Given the description of an element on the screen output the (x, y) to click on. 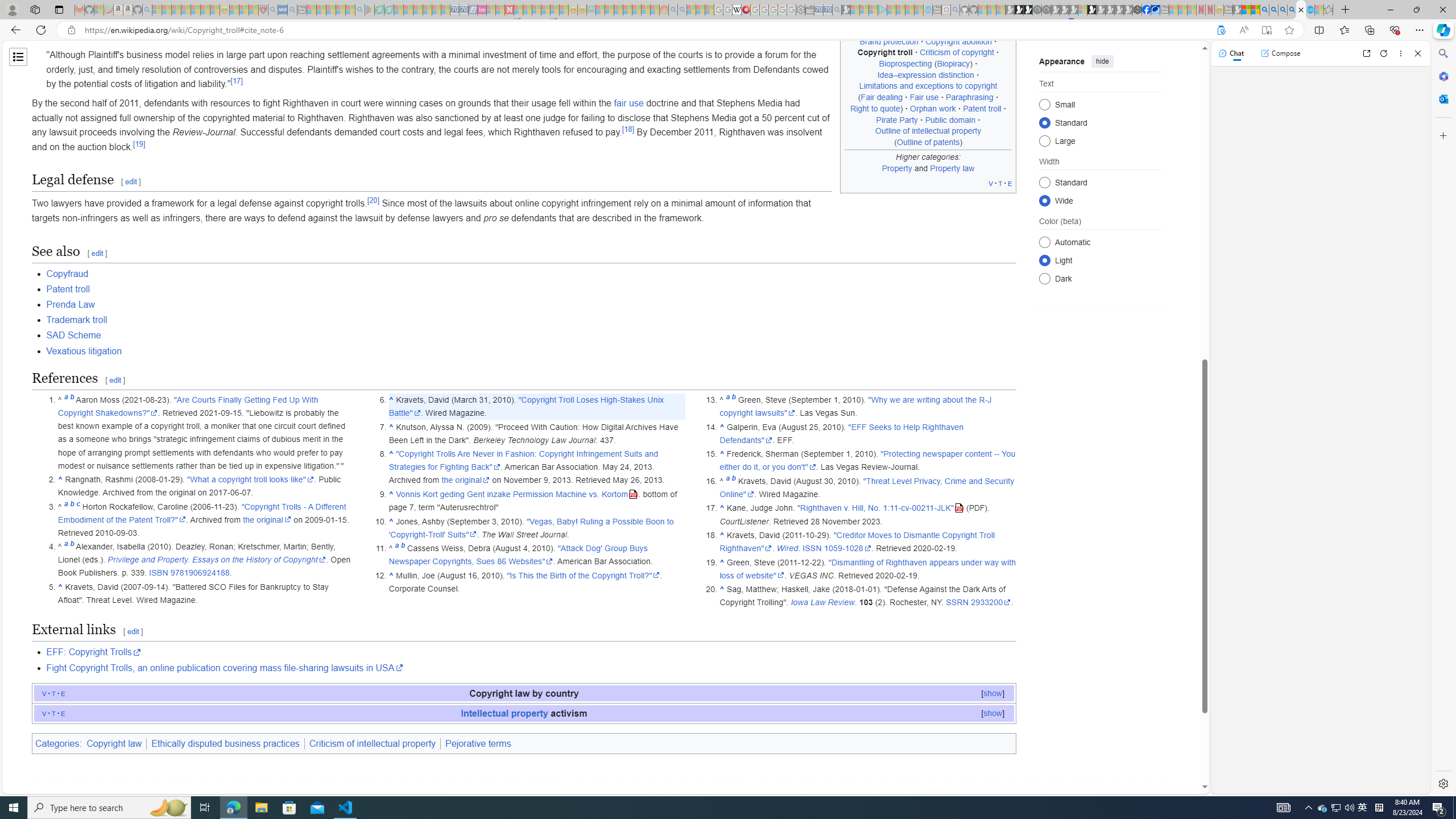
14 Common Myths Debunked By Scientific Facts - Sleeping (527, 9)
c (77, 506)
Read aloud this page (Ctrl+Shift+U) (1243, 29)
Cheap Hotels - Save70.com - Sleeping (463, 9)
Copyright law (115, 743)
Settings (1442, 783)
